Given the description of an element on the screen output the (x, y) to click on. 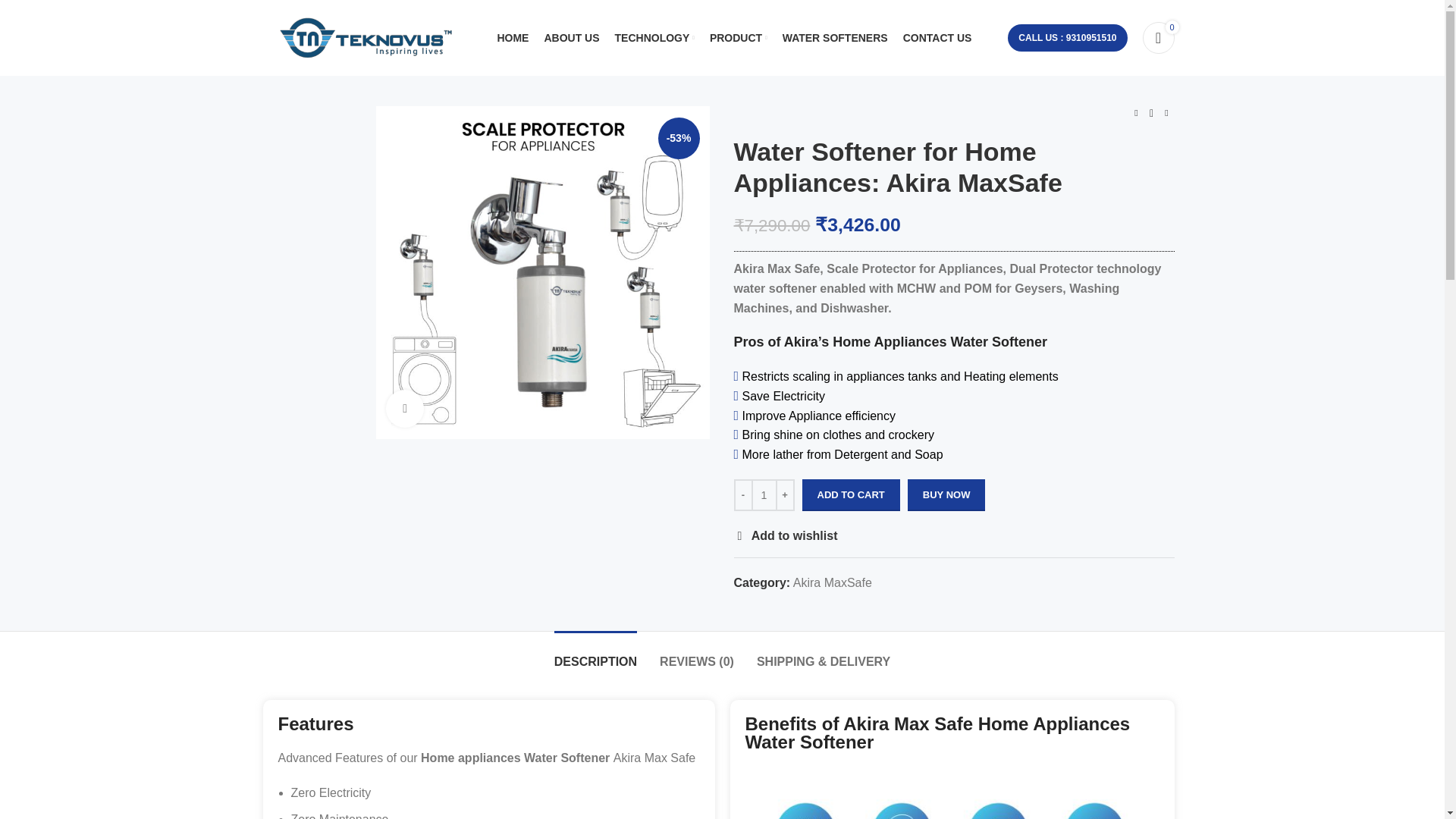
CALL US : 9310951510 (1066, 37)
HOME (512, 37)
ABOUT US (571, 37)
Shopping cart (1157, 37)
CONTACT US (937, 37)
PRODUCT (737, 37)
WATER SOFTENERS (834, 37)
0 (1157, 37)
Akira Maxsafe Banner-1 (542, 272)
TECHNOLOGY (654, 37)
